Given the description of an element on the screen output the (x, y) to click on. 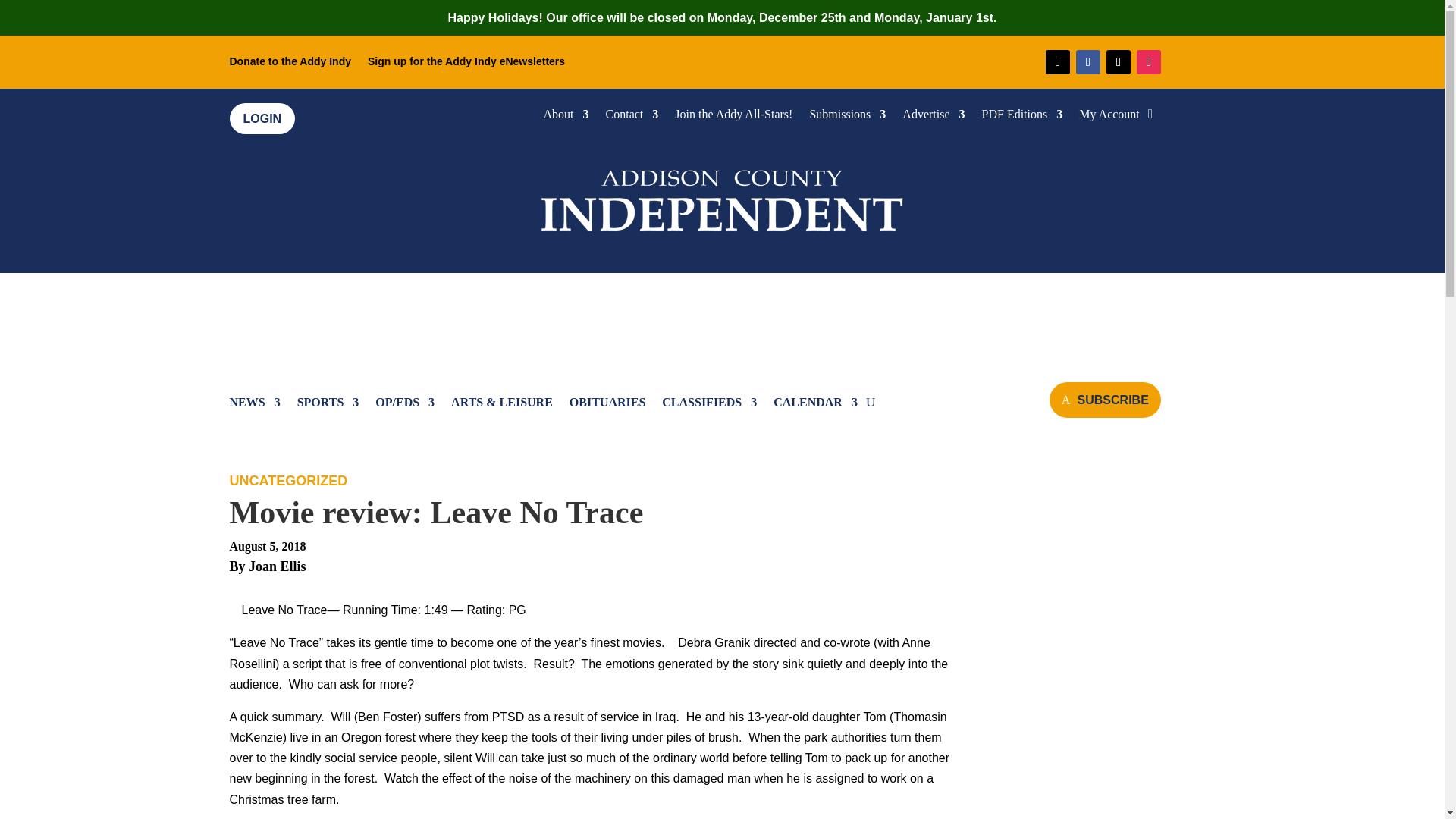
PDF Editions (1021, 117)
addison-logo (721, 197)
Donate to the Addy Indy (289, 64)
3rd party ad content (722, 318)
LOGIN (261, 118)
About (566, 117)
Contact (632, 117)
Follow on Facebook (1087, 61)
Join the Addy All-Stars! (733, 117)
My Account (1109, 117)
Advertise (932, 117)
Sign up for the Addy Indy eNewsletters (466, 64)
Follow on Instagram (1148, 61)
Follow on X (1118, 61)
Follow on Mail (1057, 61)
